Given the description of an element on the screen output the (x, y) to click on. 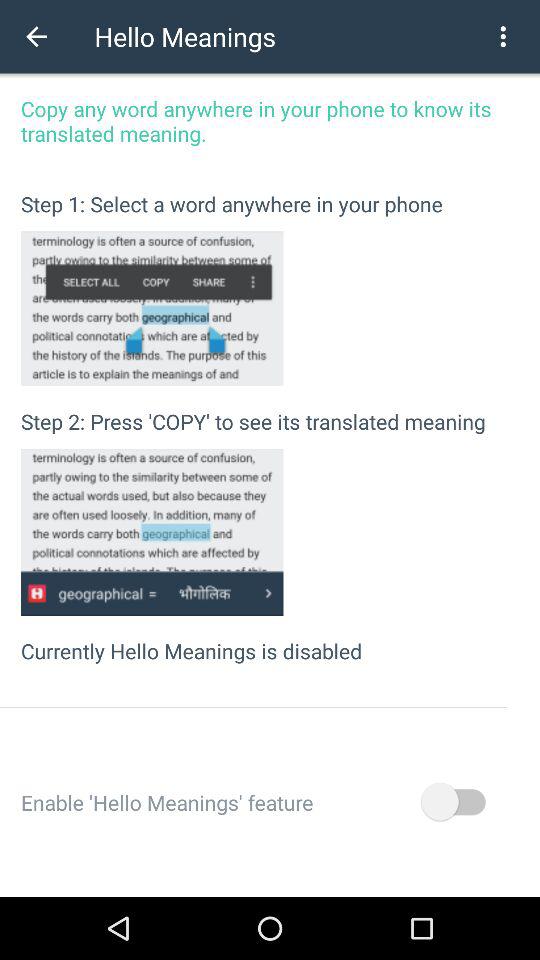
choose the icon to the right of enable hello meanings item (452, 802)
